Given the description of an element on the screen output the (x, y) to click on. 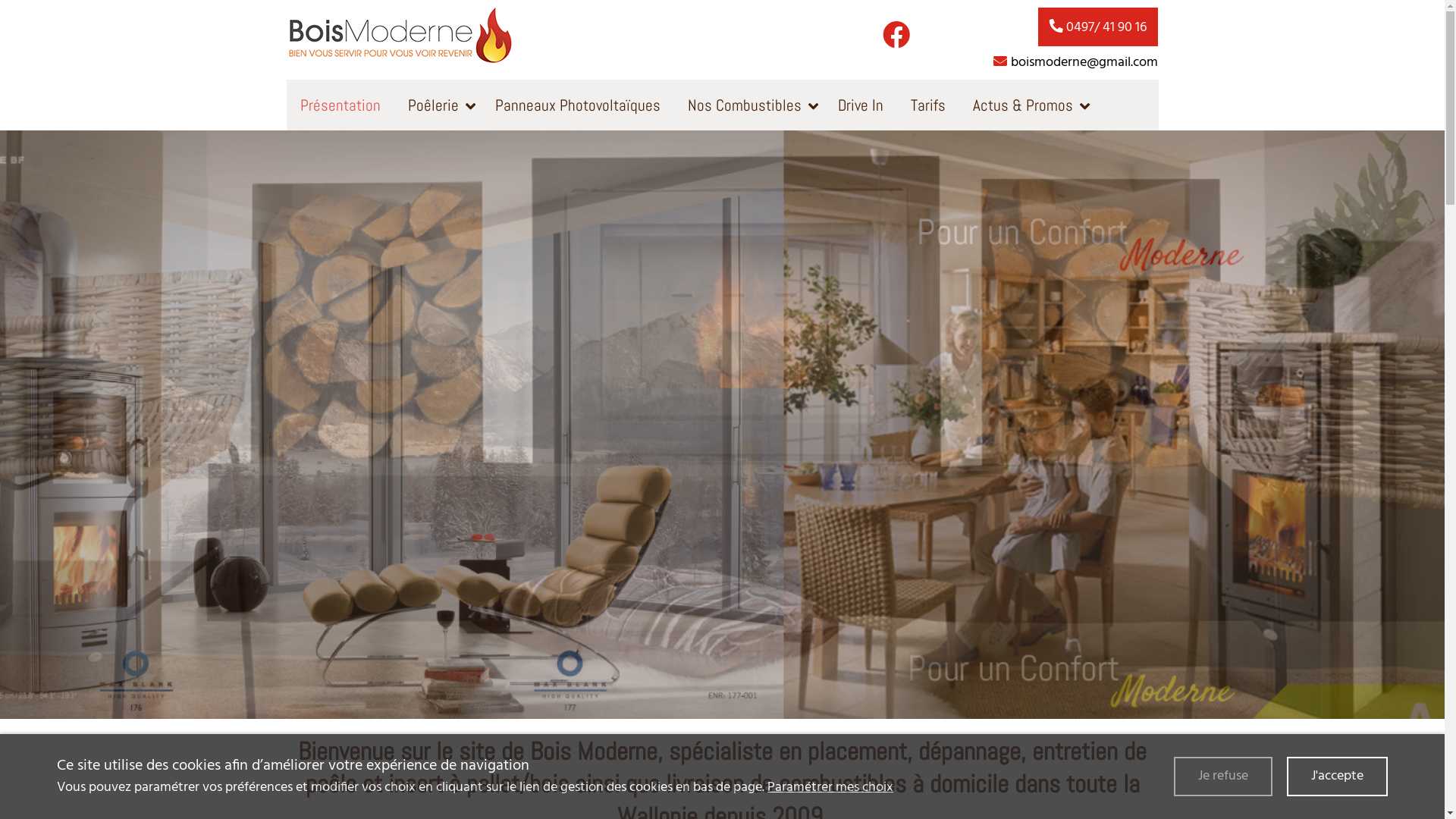
Actus & Promos Element type: text (1026, 105)
Nos Combustibles Element type: text (748, 105)
Tarifs Element type: text (927, 105)
Contact Element type: text (324, 156)
boismoderne@gmail.com Element type: text (1075, 61)
0497/ 41 90 16 Element type: text (1097, 26)
Drive In Element type: text (859, 105)
